Given the description of an element on the screen output the (x, y) to click on. 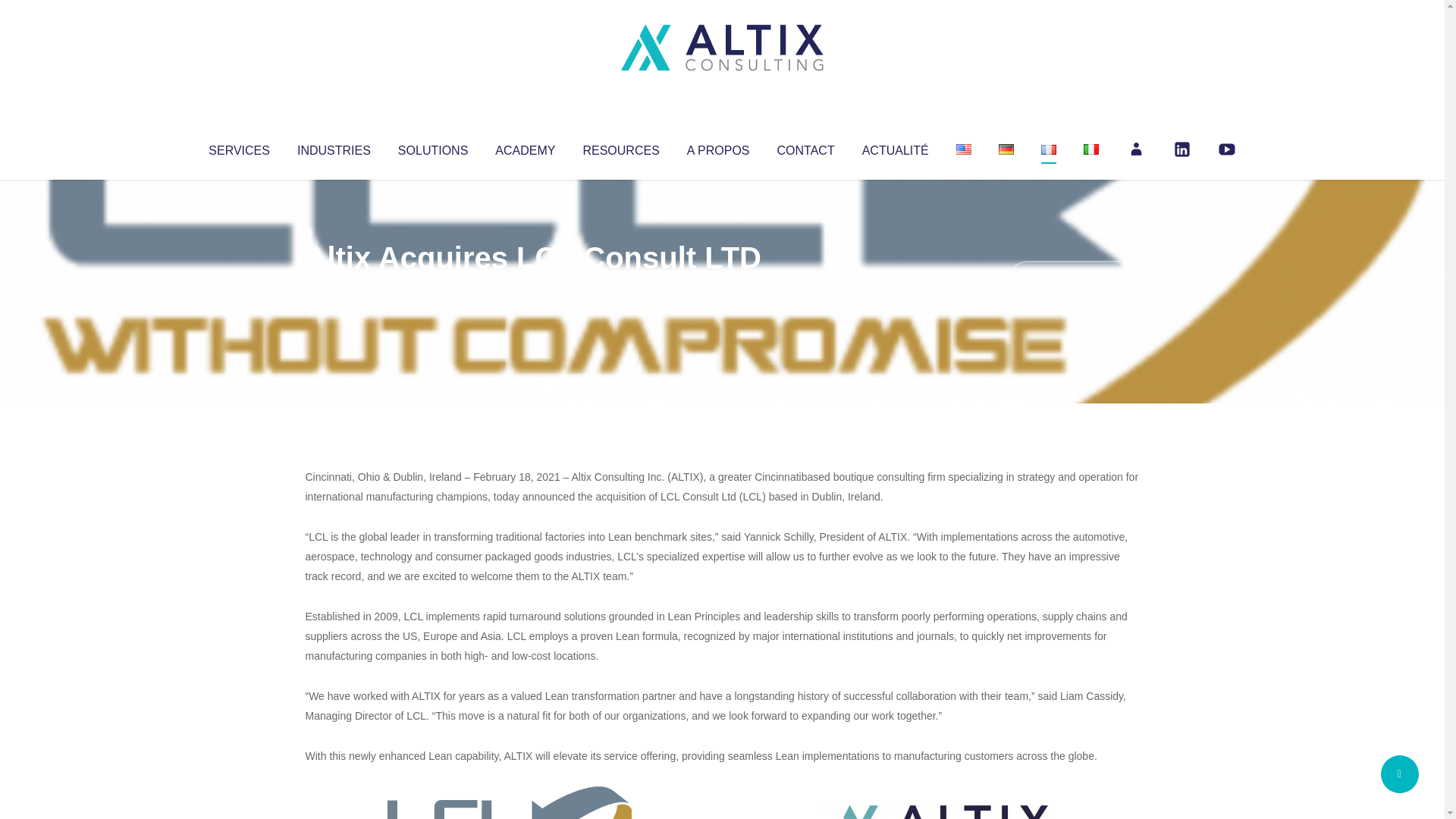
SERVICES (238, 146)
Uncategorized (530, 287)
Articles par Altix (333, 287)
ACADEMY (524, 146)
INDUSTRIES (334, 146)
No Comments (1073, 278)
Altix (333, 287)
A PROPOS (718, 146)
SOLUTIONS (432, 146)
RESOURCES (620, 146)
